Given the description of an element on the screen output the (x, y) to click on. 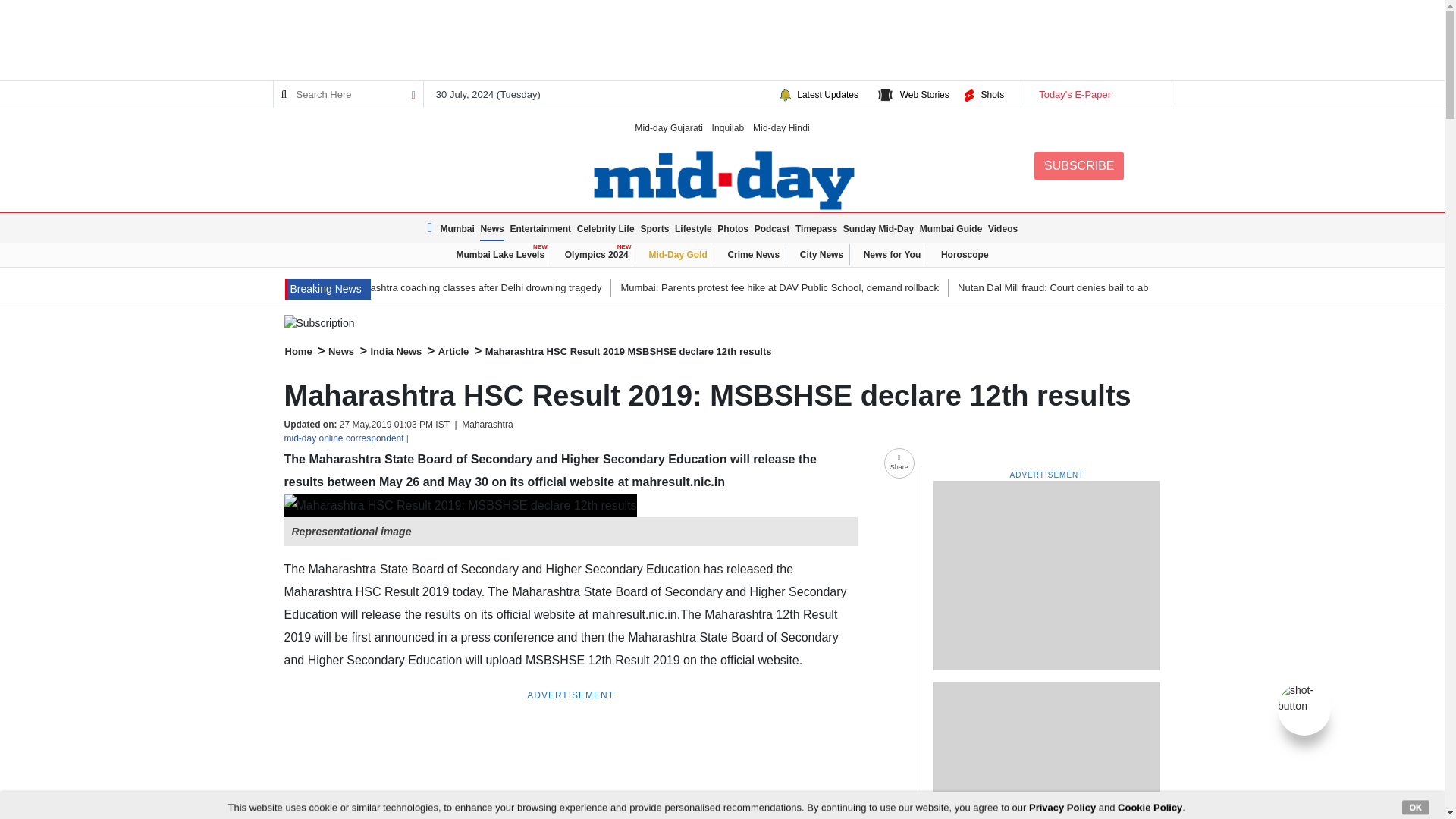
Latest Updates (827, 94)
Inquilab (728, 127)
Today's E-Paper (1095, 94)
Latest News (432, 227)
Shots (991, 94)
Mid-day Hindi (780, 127)
Latest News (328, 289)
Web Stories (924, 94)
SUBSCRIBE (1078, 165)
Subscription (721, 323)
Maharashtra HSC Result 2019: MSBSHSE declare 12th results (459, 505)
Mid-day Gujarati (668, 127)
Midday Shot Videos (1304, 697)
